Given the description of an element on the screen output the (x, y) to click on. 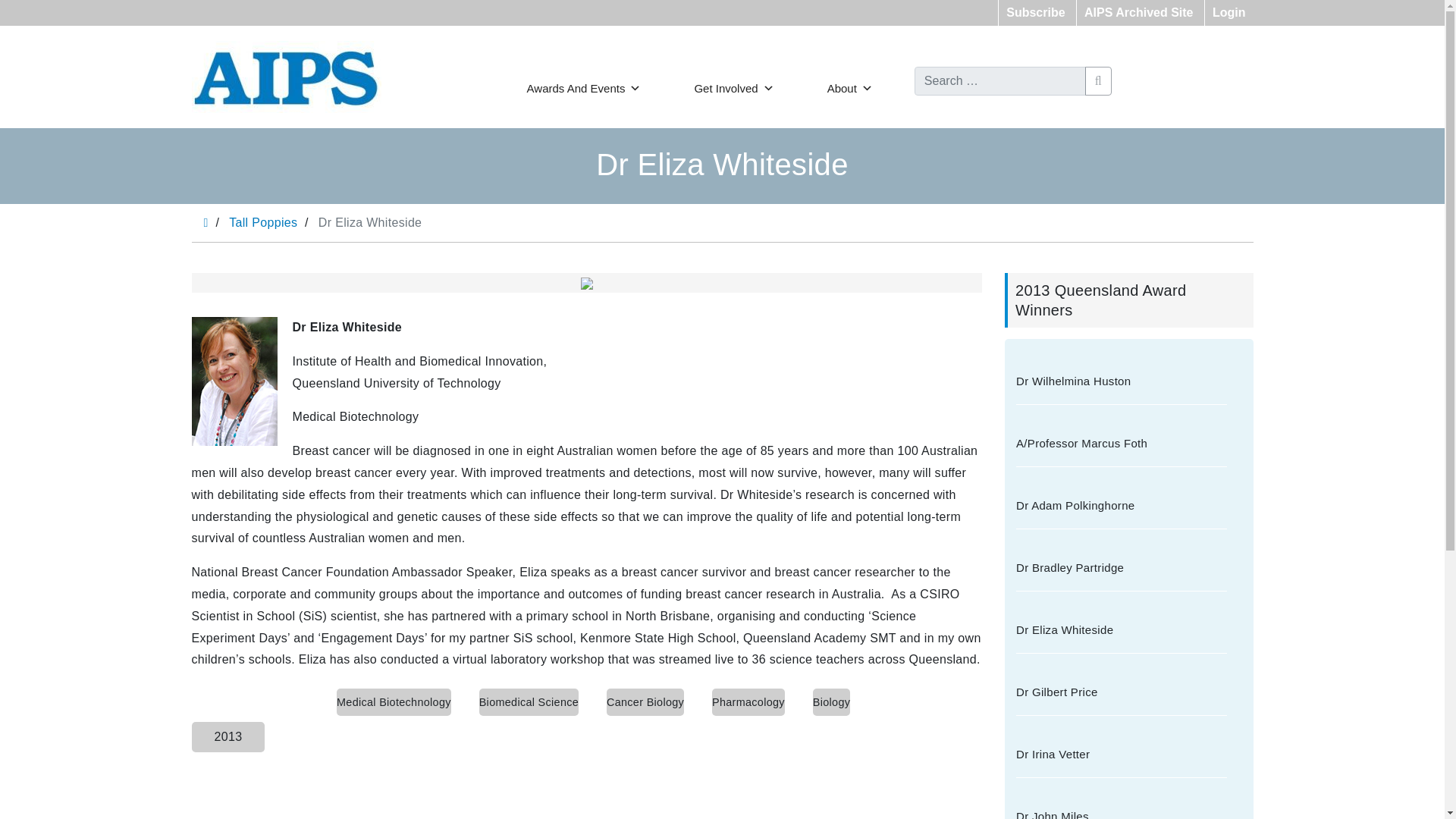
Dr Bradley Partridge (1121, 567)
Subscribe (1034, 12)
Dr Gilbert Price (1121, 691)
Tall Poppies (262, 222)
Get Involved (733, 87)
Dr Eliza Whiteside (1121, 629)
Awards And Events (583, 87)
Login (1229, 12)
AIPS Archived Site (1138, 12)
Dr John Miles (1121, 807)
Dr Adam Polkinghorne (1121, 505)
Dr Irina Vetter (1121, 753)
About (850, 87)
Dr Wilhelmina Huston (1121, 380)
